Given the description of an element on the screen output the (x, y) to click on. 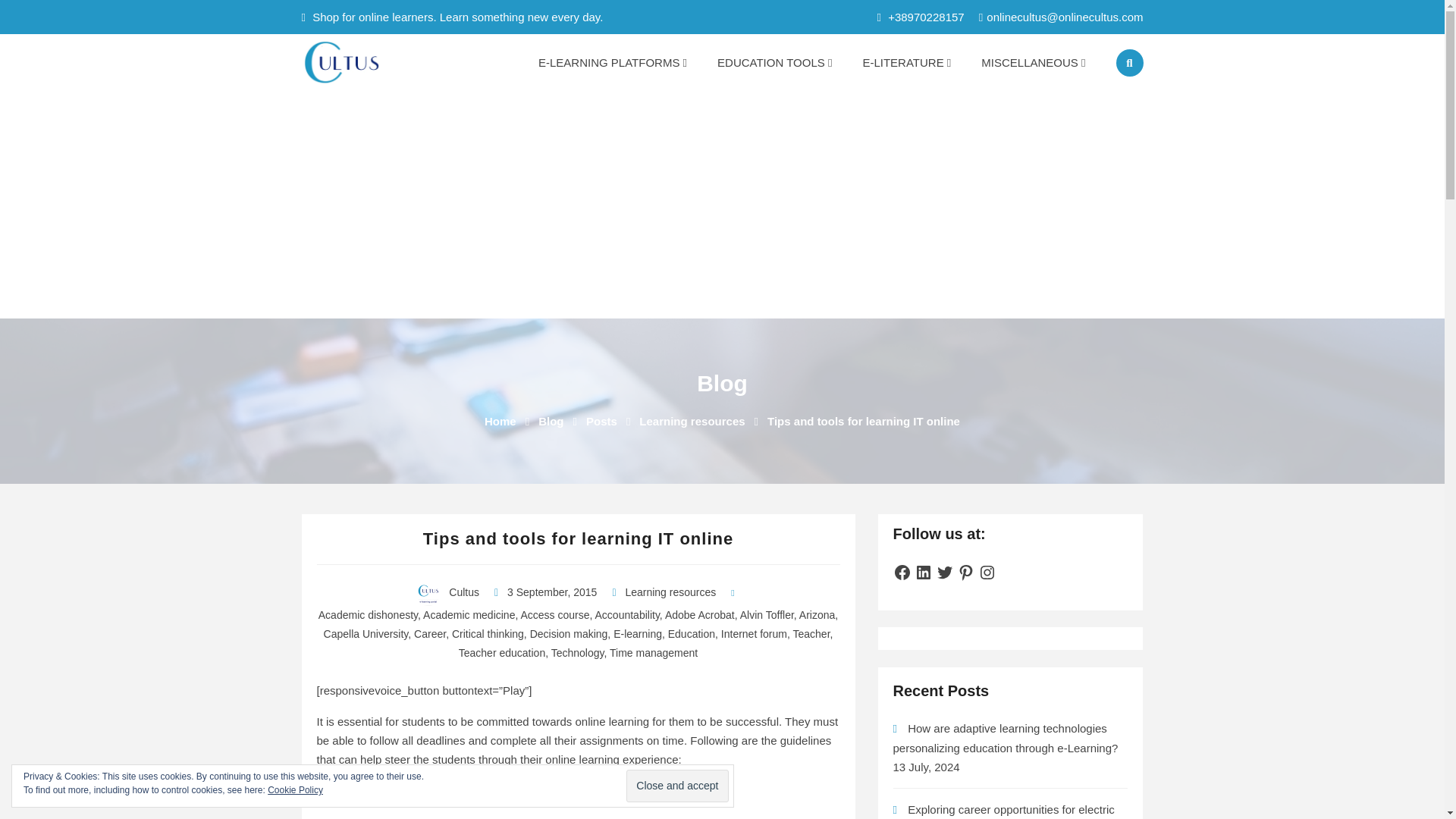
E-LEARNING PLATFORMS (611, 62)
Education tools (774, 62)
EDUCATION TOOLS (774, 62)
E-LITERATURE (906, 62)
Close and accept (677, 785)
E-learning platforms (611, 62)
